Given the description of an element on the screen output the (x, y) to click on. 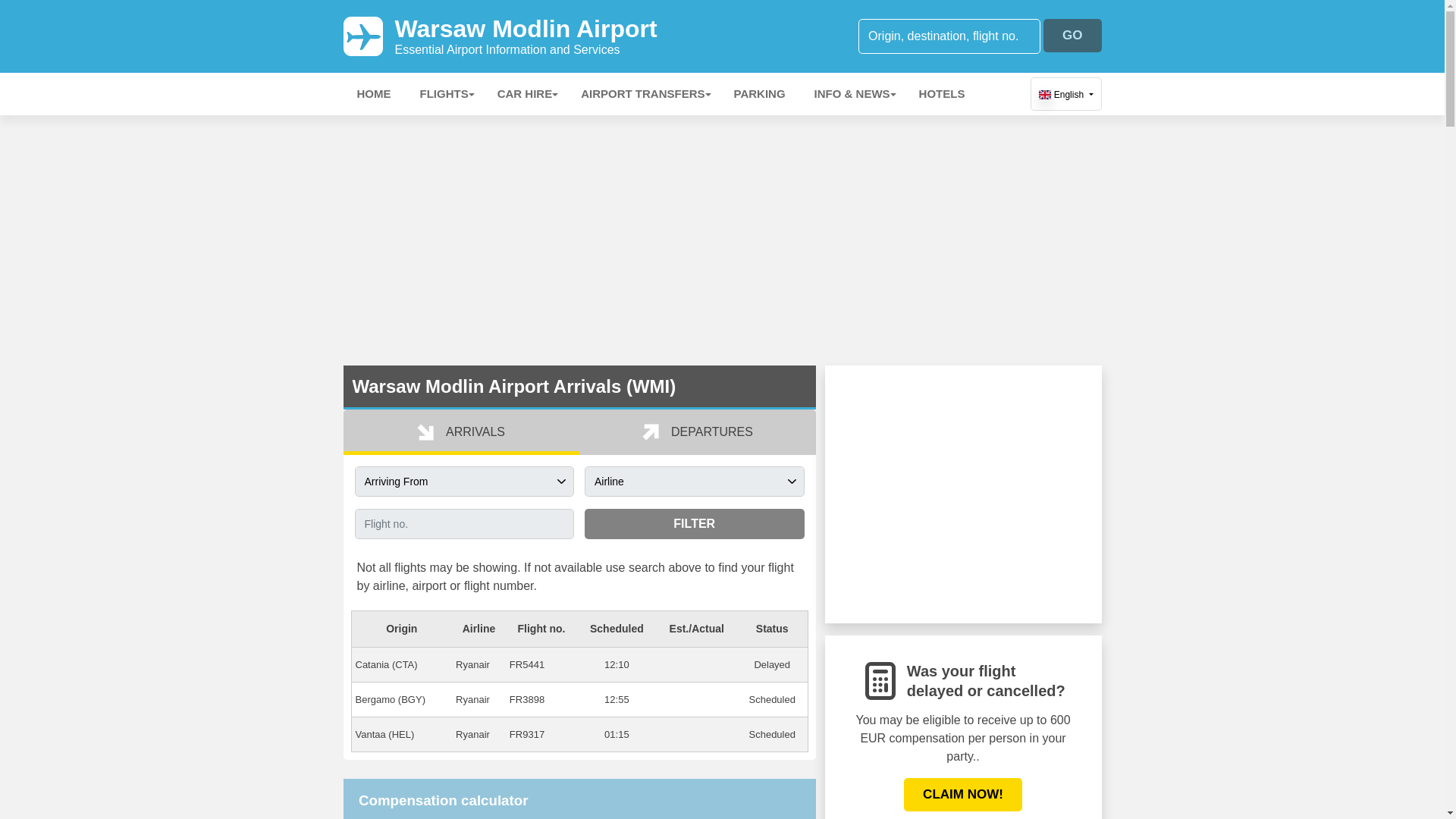
FLIGHTS (443, 93)
GO (1071, 35)
CAR HIRE (524, 93)
HOME (373, 93)
